Given the description of an element on the screen output the (x, y) to click on. 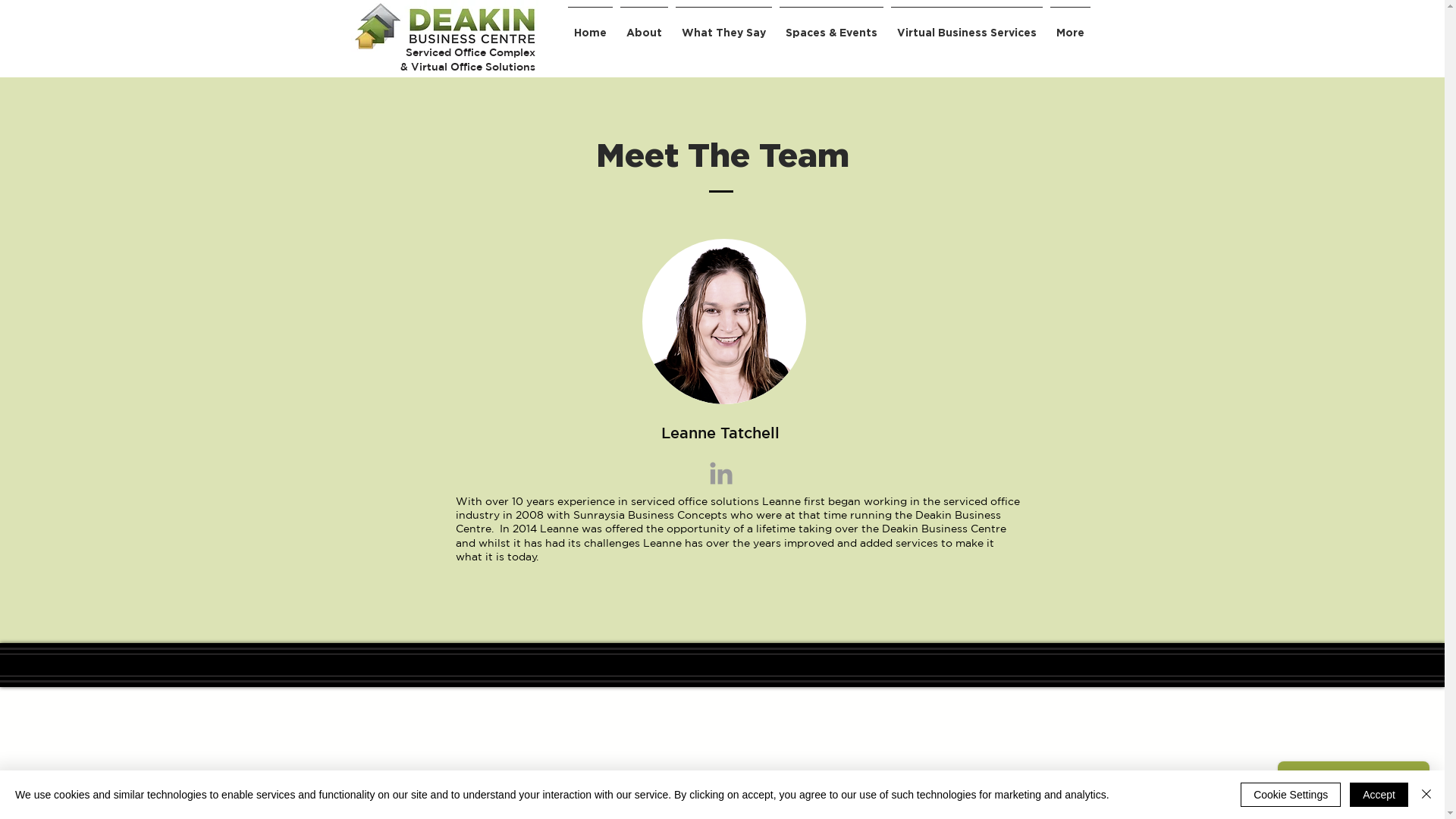
What They Say Element type: text (723, 25)
Home Element type: text (590, 25)
guy2.jpg Element type: hover (723, 321)
Cookie Settings Element type: text (1290, 794)
About Element type: text (643, 25)
Accept Element type: text (1378, 794)
Spaces & Events Element type: text (830, 25)
Virtual Business Services Element type: text (966, 25)
